Given the description of an element on the screen output the (x, y) to click on. 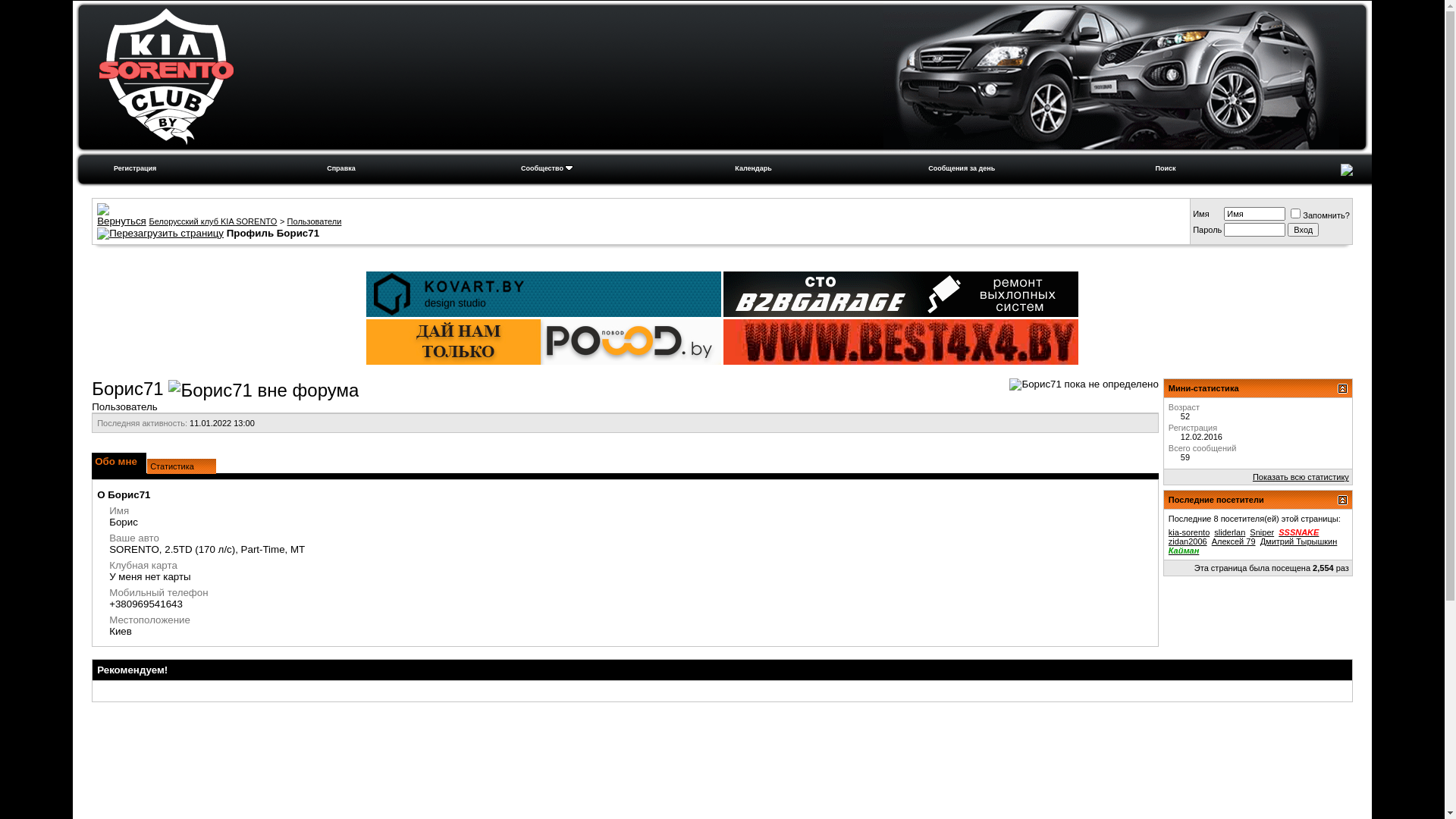
kia-sorento Element type: text (1188, 531)
sliderlan Element type: text (1229, 531)
SSSNAKE Element type: text (1298, 531)
KIA-SORENTO-CLUB.BY Element type: hover (166, 76)
zidan2006 Element type: text (1187, 541)
KIA-SORENTO-CLUB.BY Element type: hover (1111, 76)
Sniper Element type: text (1261, 531)
